Given the description of an element on the screen output the (x, y) to click on. 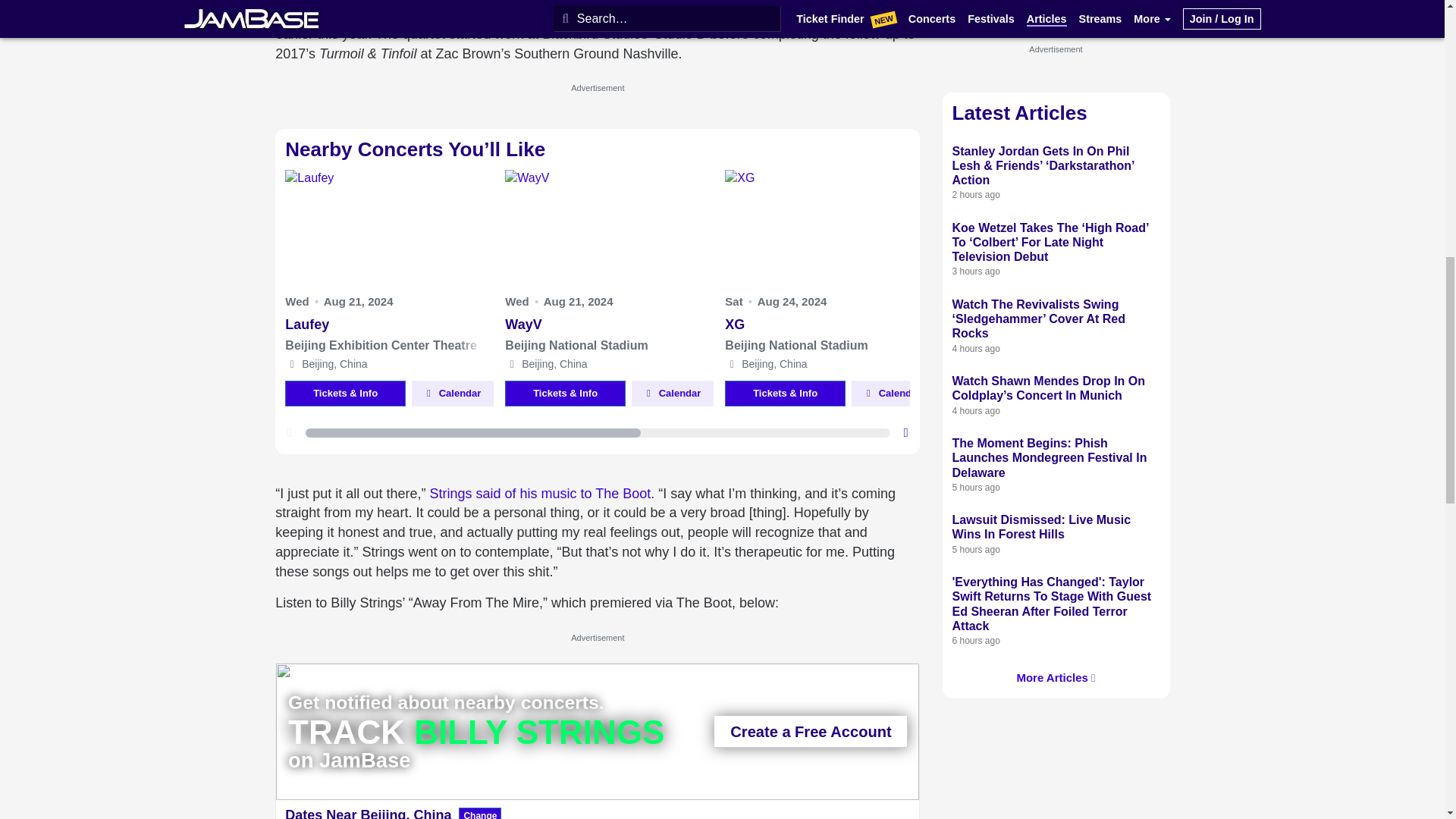
Laufey (389, 325)
Click to register or log in. (672, 393)
Beijing Exhibition Center Theatre (389, 345)
Click to register or log in. (452, 393)
Click to register or log in. (892, 393)
Calendar (452, 393)
WayV (609, 325)
